Given the description of an element on the screen output the (x, y) to click on. 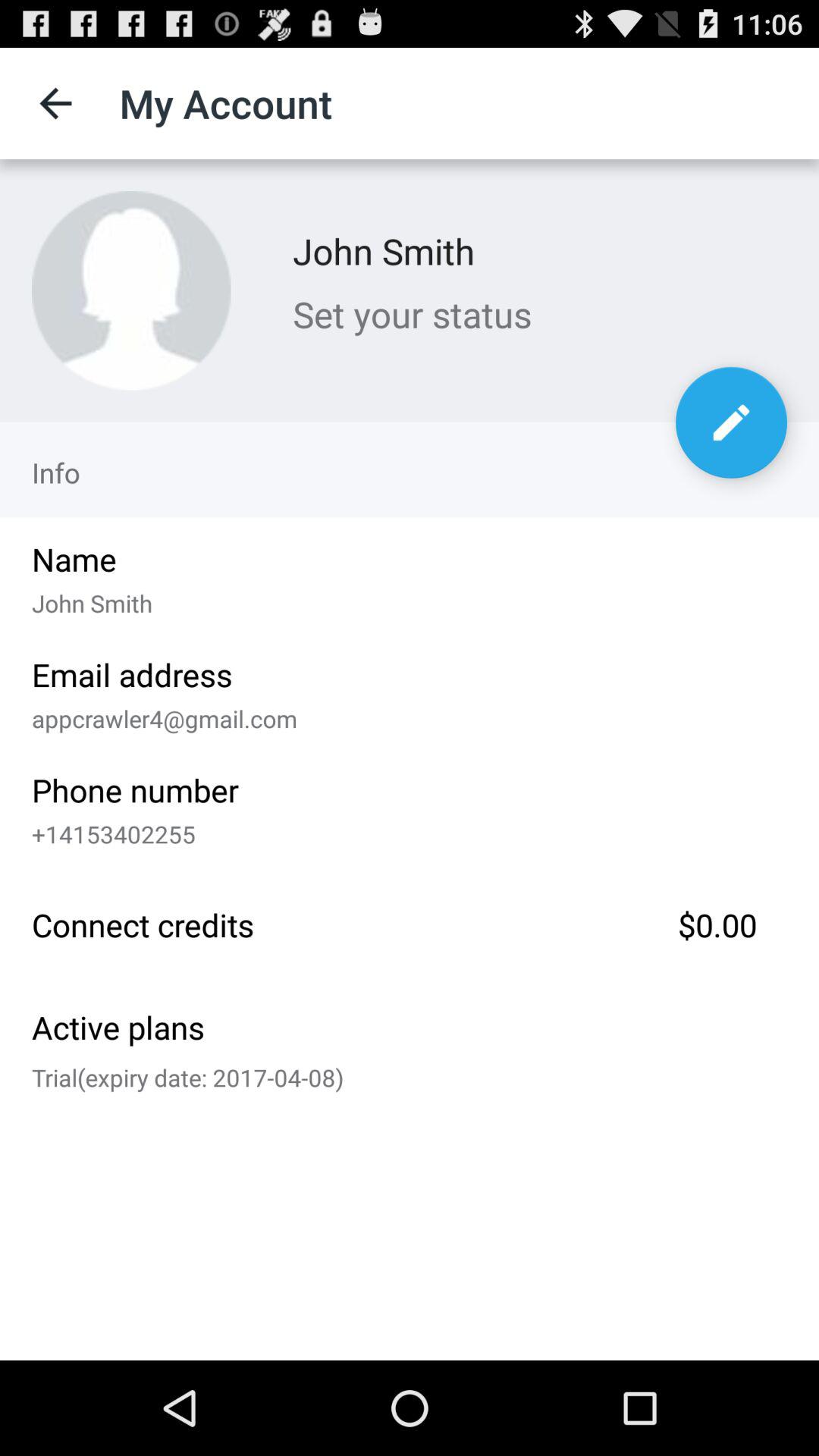
click the icon at the top right corner (731, 422)
